Given the description of an element on the screen output the (x, y) to click on. 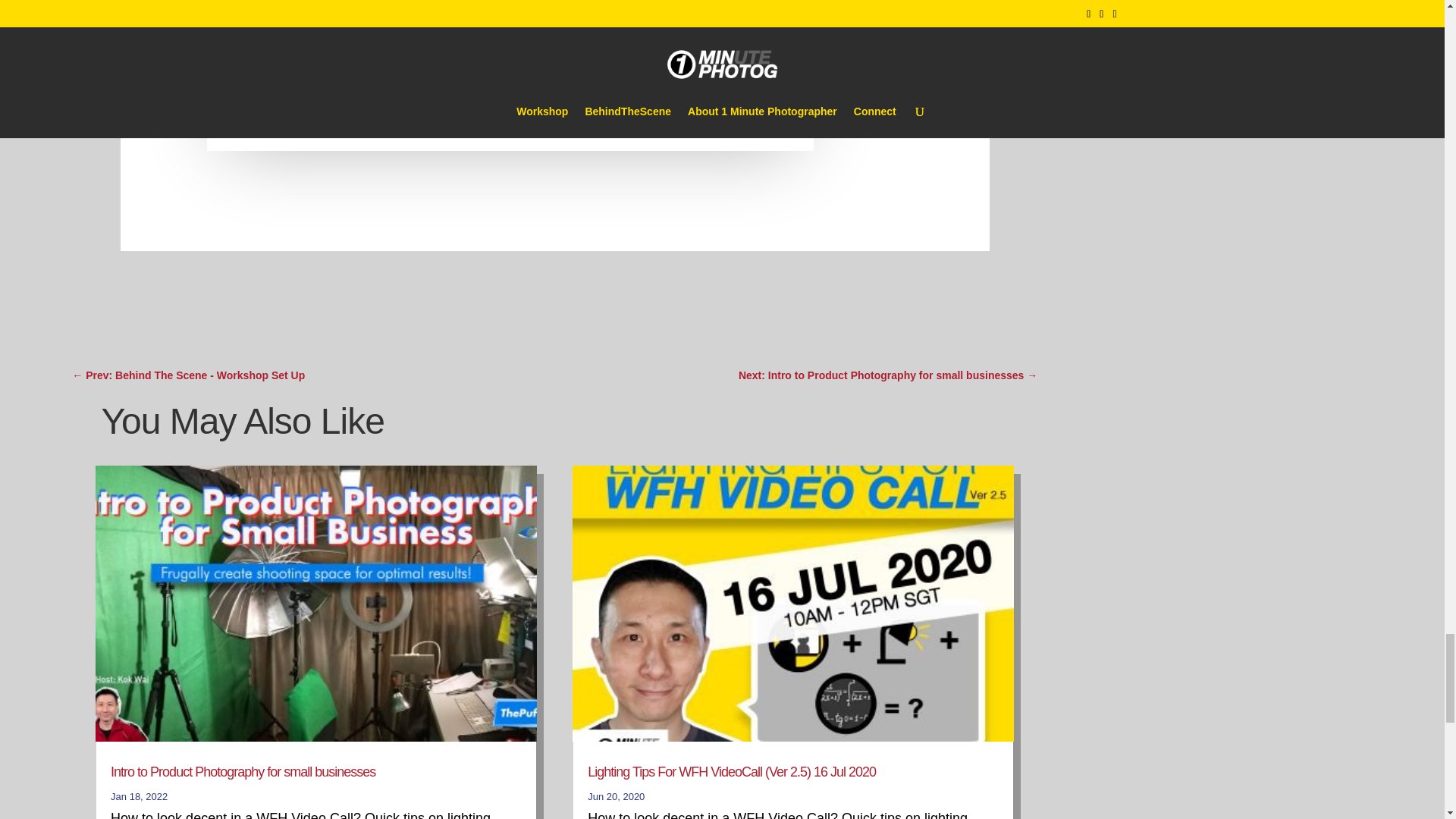
Intro to Product Photography for small businesses (242, 771)
